Given the description of an element on the screen output the (x, y) to click on. 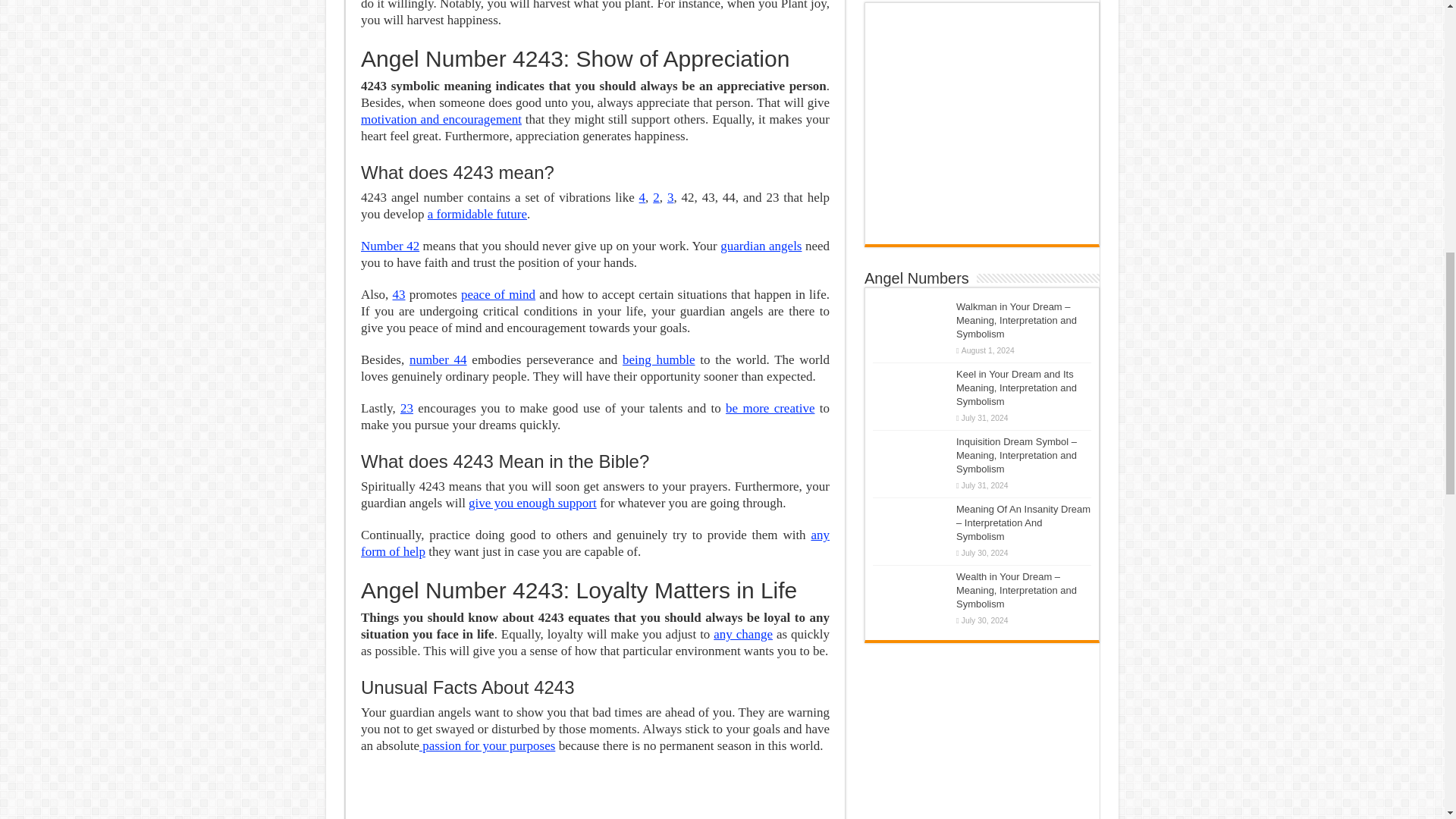
give you enough support (532, 503)
any form of help (595, 542)
guardian angels (761, 246)
any change (743, 634)
 passion for your purposes (486, 745)
23 (406, 408)
Number 42 (390, 246)
being humble (659, 359)
43 (399, 294)
peace of mind (498, 294)
a formidable future (477, 214)
be more creative (769, 408)
motivation and encouragement (441, 119)
number 44 (438, 359)
